Given the description of an element on the screen output the (x, y) to click on. 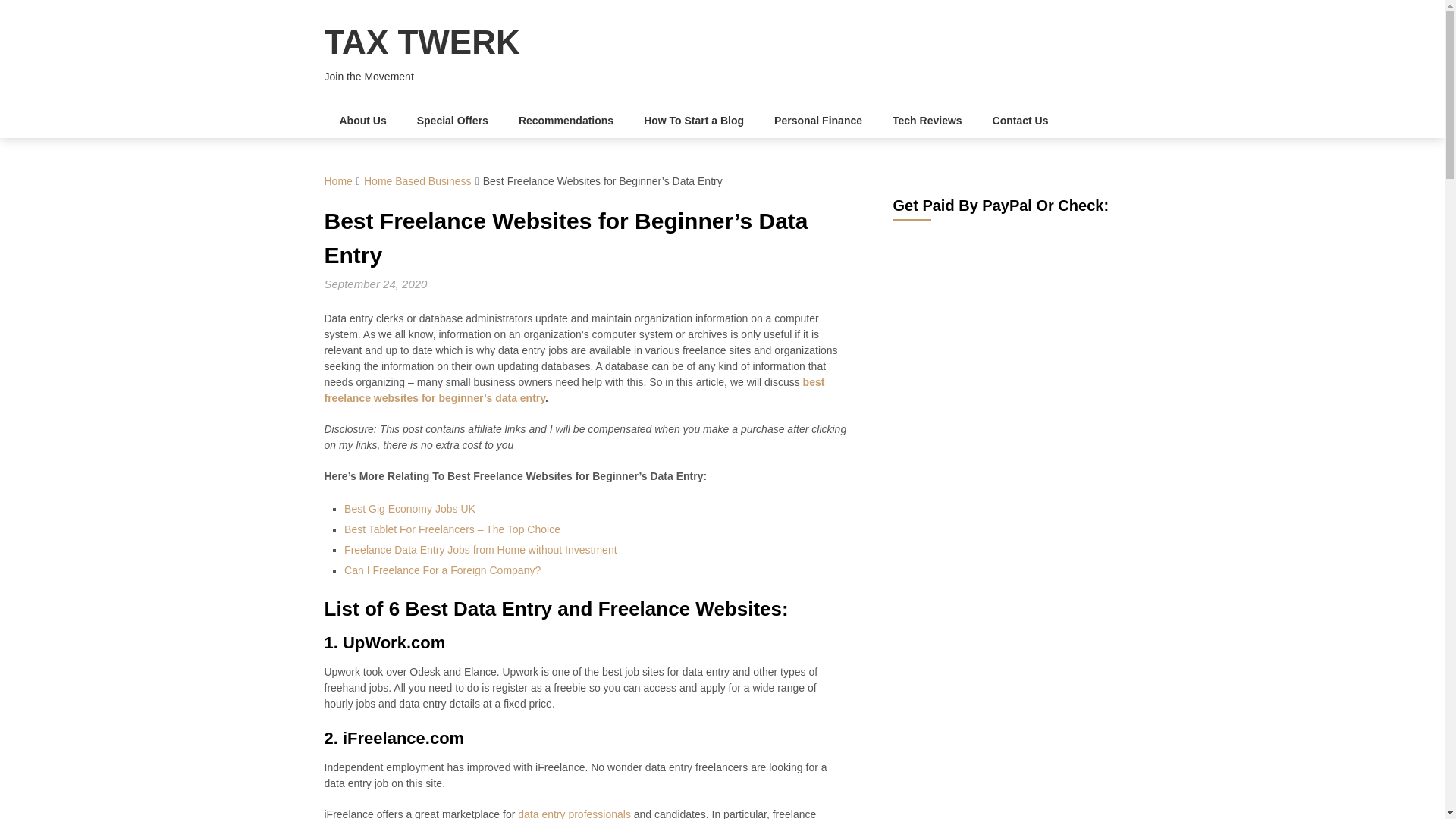
Tech Reviews (926, 121)
Tech Reviews (926, 121)
Home Based Business (417, 181)
data entry professionals (574, 813)
Best Gig Economy Jobs UK (409, 508)
About Us (362, 121)
Recommendations (565, 121)
Get Paid By PayPal Or Check: (993, 331)
Recommendations (565, 121)
TAX TWERK (421, 41)
